Given the description of an element on the screen output the (x, y) to click on. 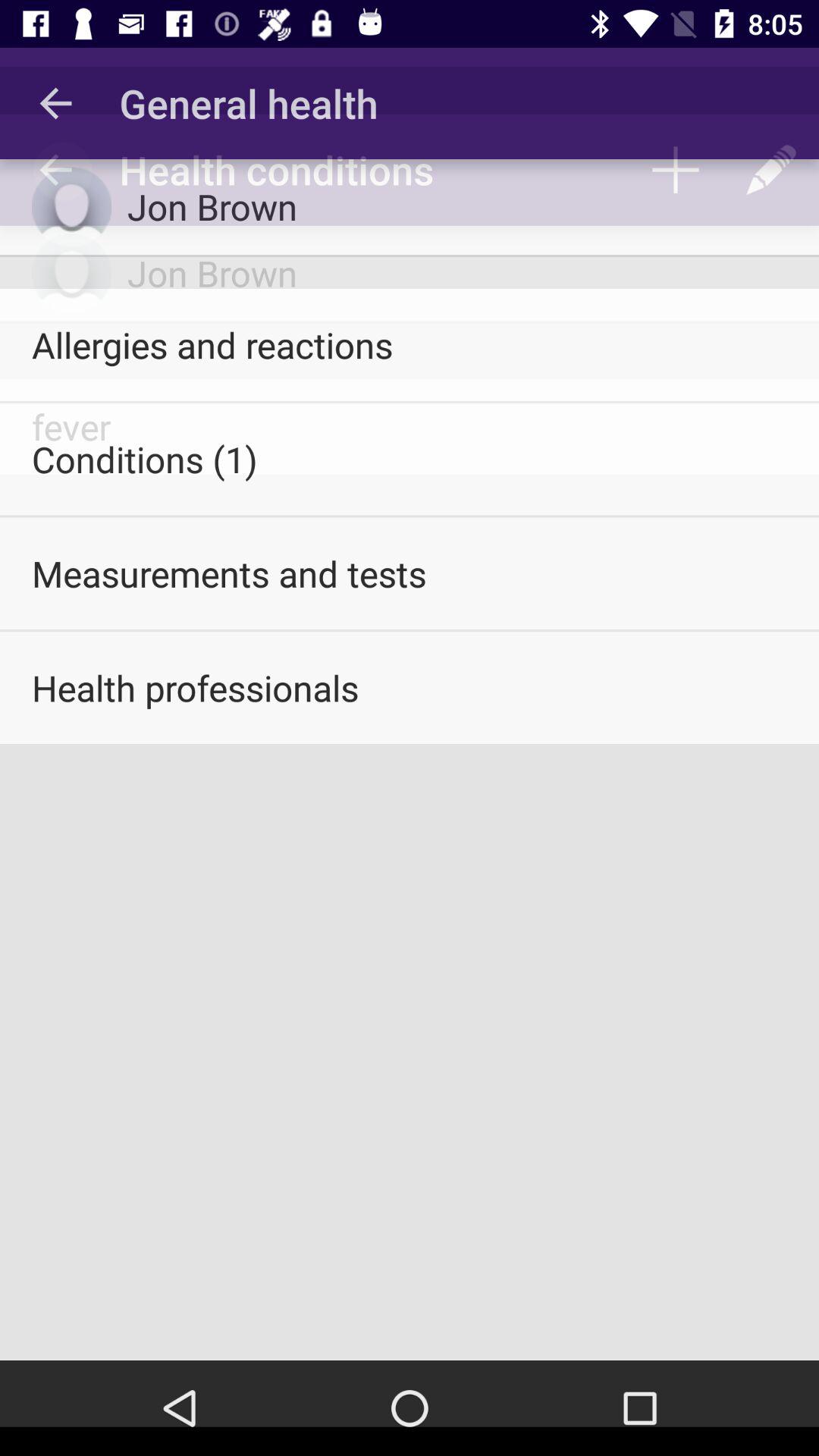
choose icon next to the general health item (55, 103)
